Given the description of an element on the screen output the (x, y) to click on. 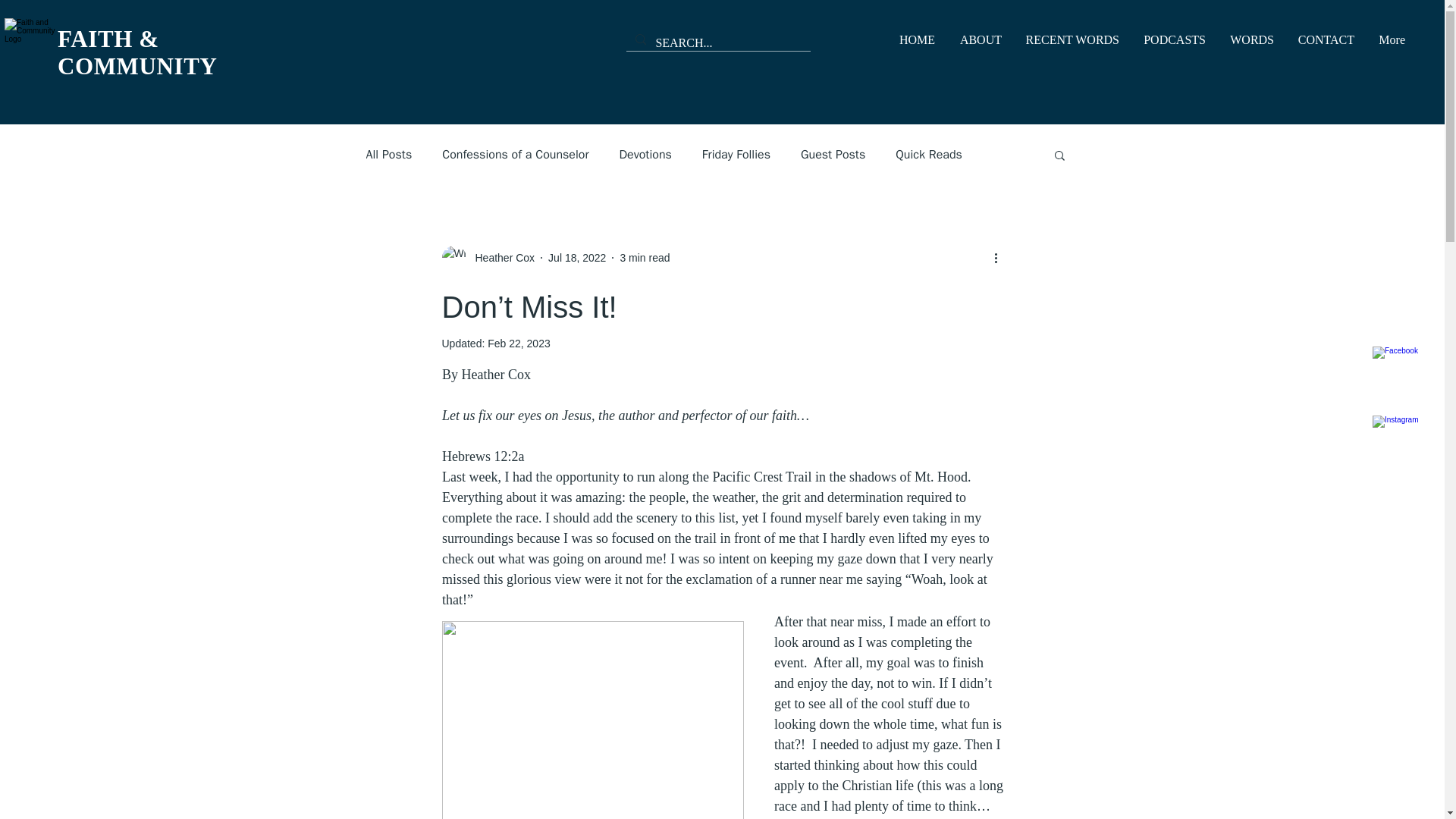
Guest Posts (832, 154)
HOME (915, 39)
Quick Reads (928, 154)
Friday Follies (735, 154)
faith-and-community-logo-burnt-sienna (31, 44)
All Posts (388, 154)
Heather Cox (499, 258)
Feb 22, 2023 (518, 343)
Confessions of a Counselor (515, 154)
RECENT WORDS (1072, 39)
ABOUT (979, 39)
3 min read (644, 257)
WORDS (1251, 39)
CONTACT (1325, 39)
Jul 18, 2022 (576, 257)
